Given the description of an element on the screen output the (x, y) to click on. 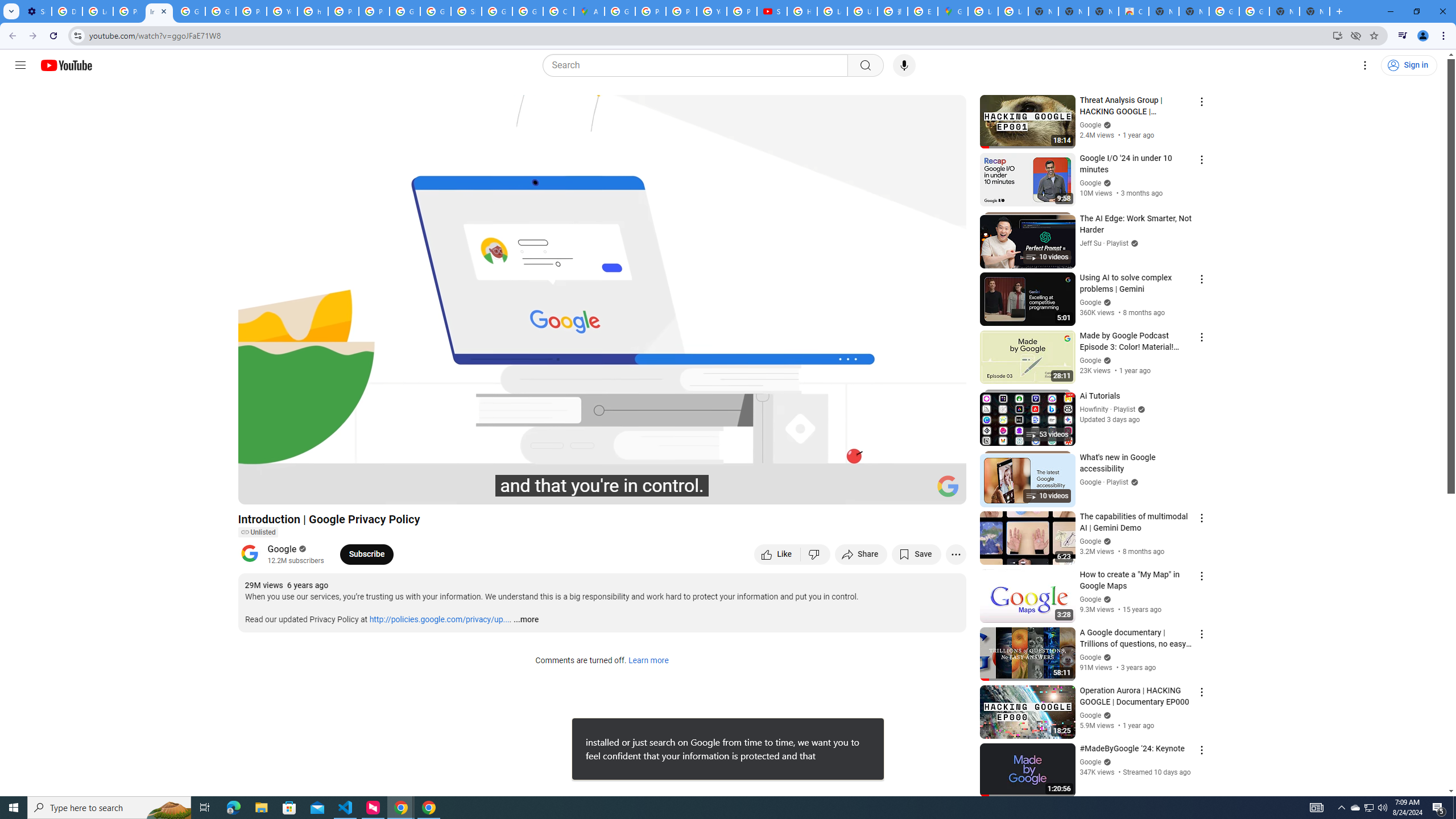
Google Images (1224, 11)
Full screen (f) (945, 490)
Theater mode (t) (917, 490)
Unlisted (257, 532)
Subscriptions - YouTube (771, 11)
